Given the description of an element on the screen output the (x, y) to click on. 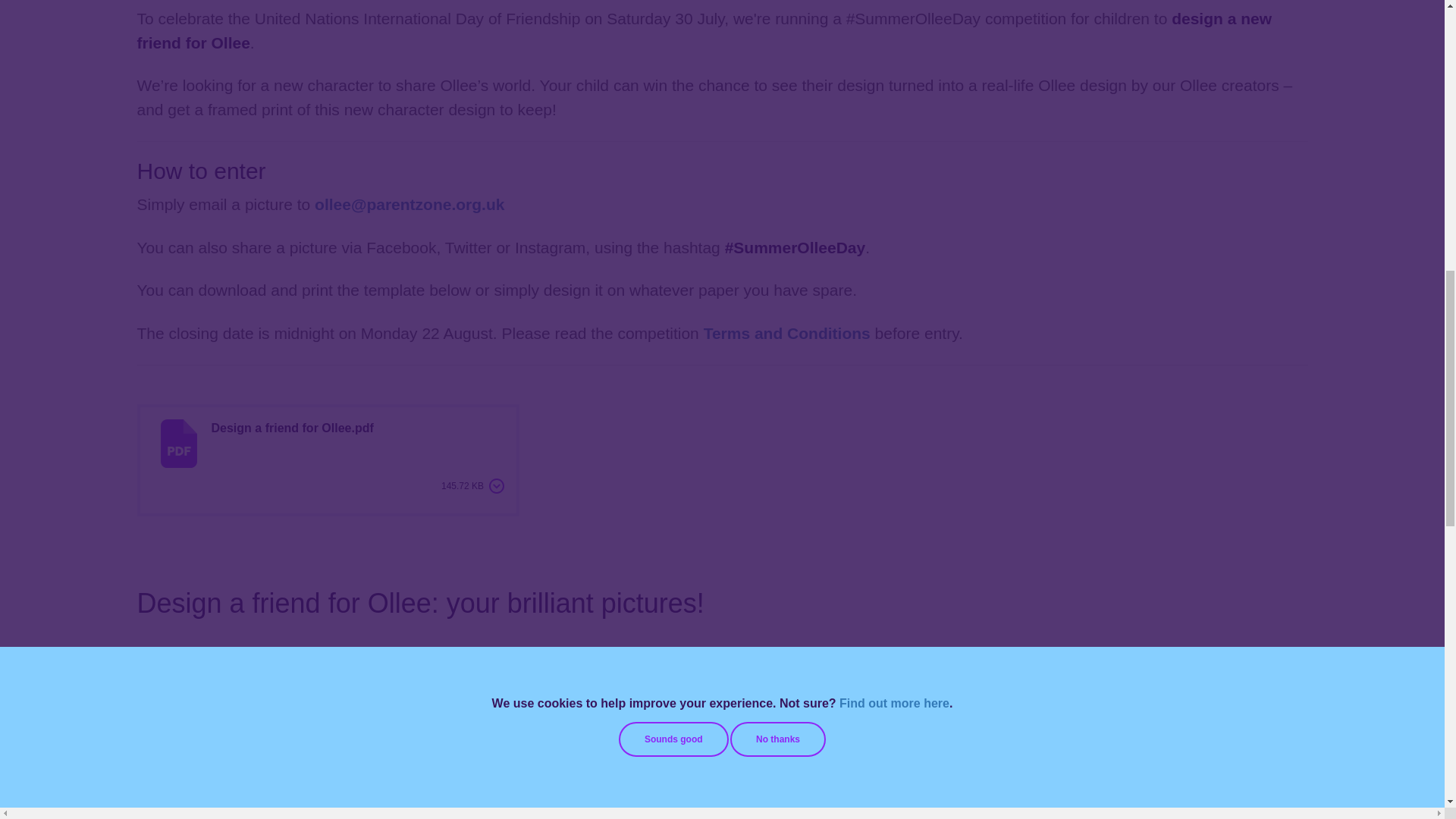
Design a friend for Ollee.pdf (291, 444)
Read competition terms and conditions (786, 333)
Terms and Conditions (786, 333)
